Given the description of an element on the screen output the (x, y) to click on. 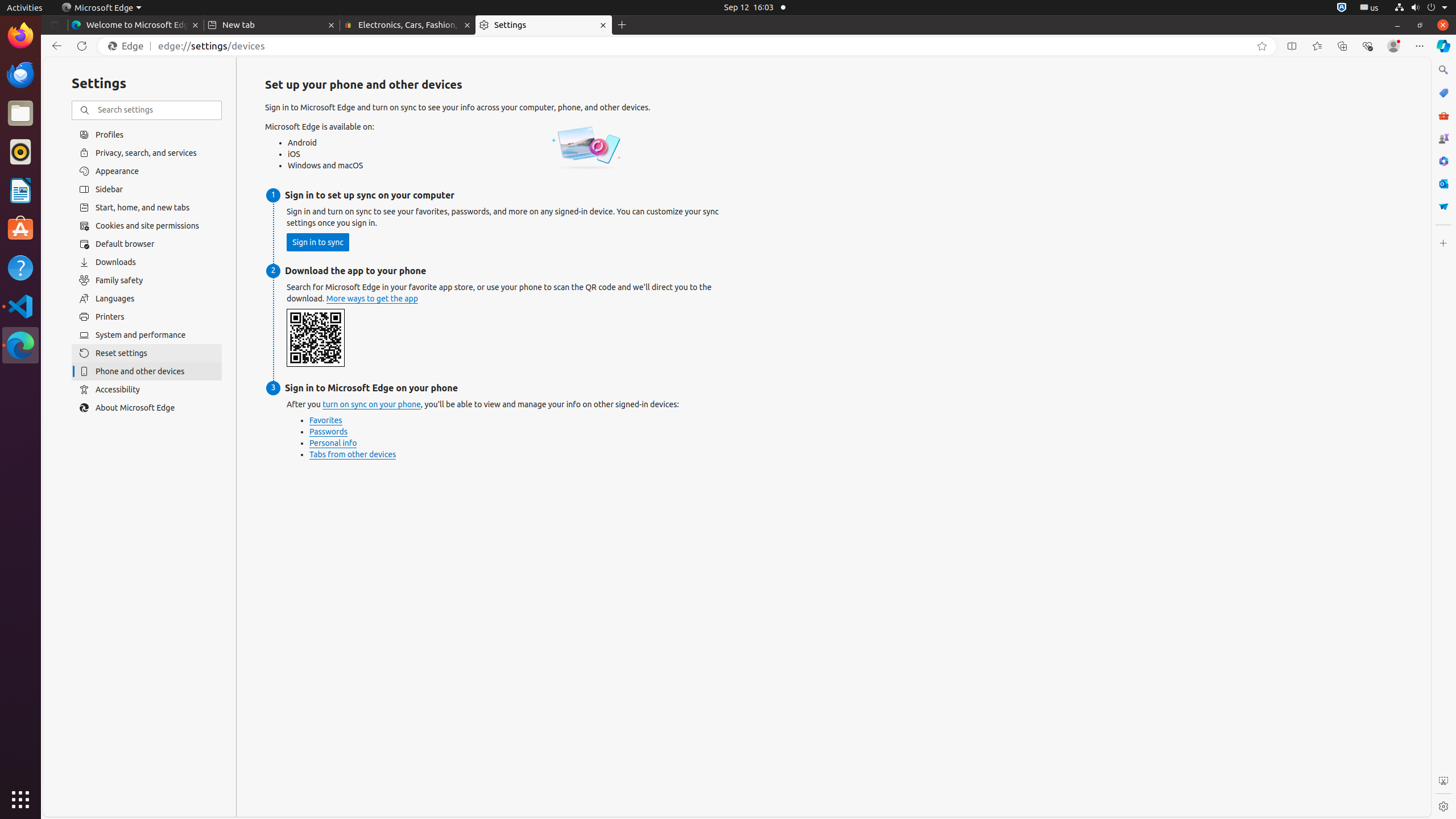
Passwords Element type: link (328, 431)
Firefox Web Browser Element type: push-button (20, 35)
Reset settings Element type: tree-item (146, 353)
Refresh Element type: push-button (81, 45)
LibreOffice Writer Element type: push-button (20, 190)
